Given the description of an element on the screen output the (x, y) to click on. 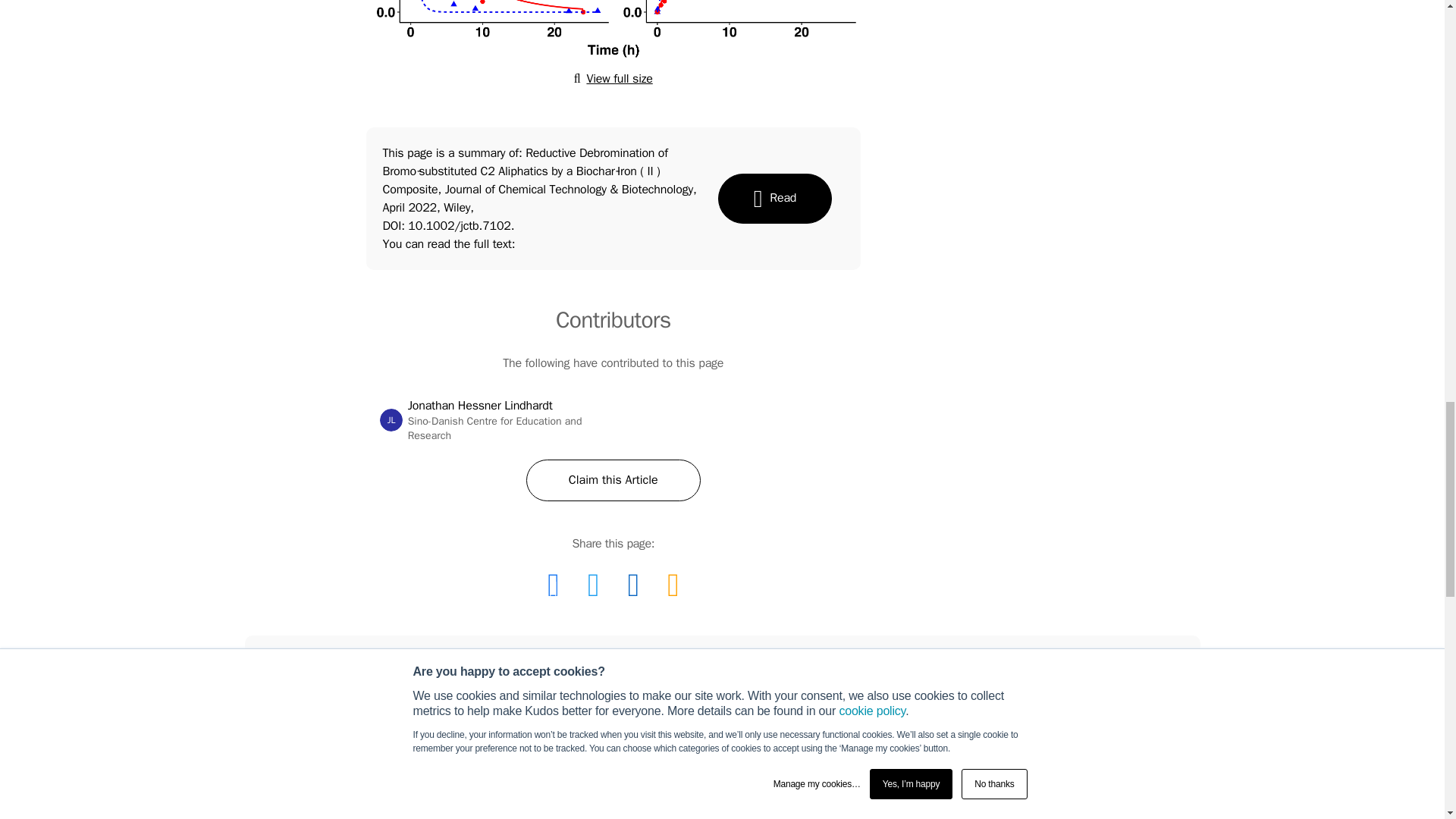
Share this page via Twitter (593, 584)
Share this page via email (672, 584)
Claim this Article (391, 419)
Share this page via Facebook (612, 480)
View full size (553, 584)
Share this page via LinkedIn (612, 78)
Read (633, 584)
